Given the description of an element on the screen output the (x, y) to click on. 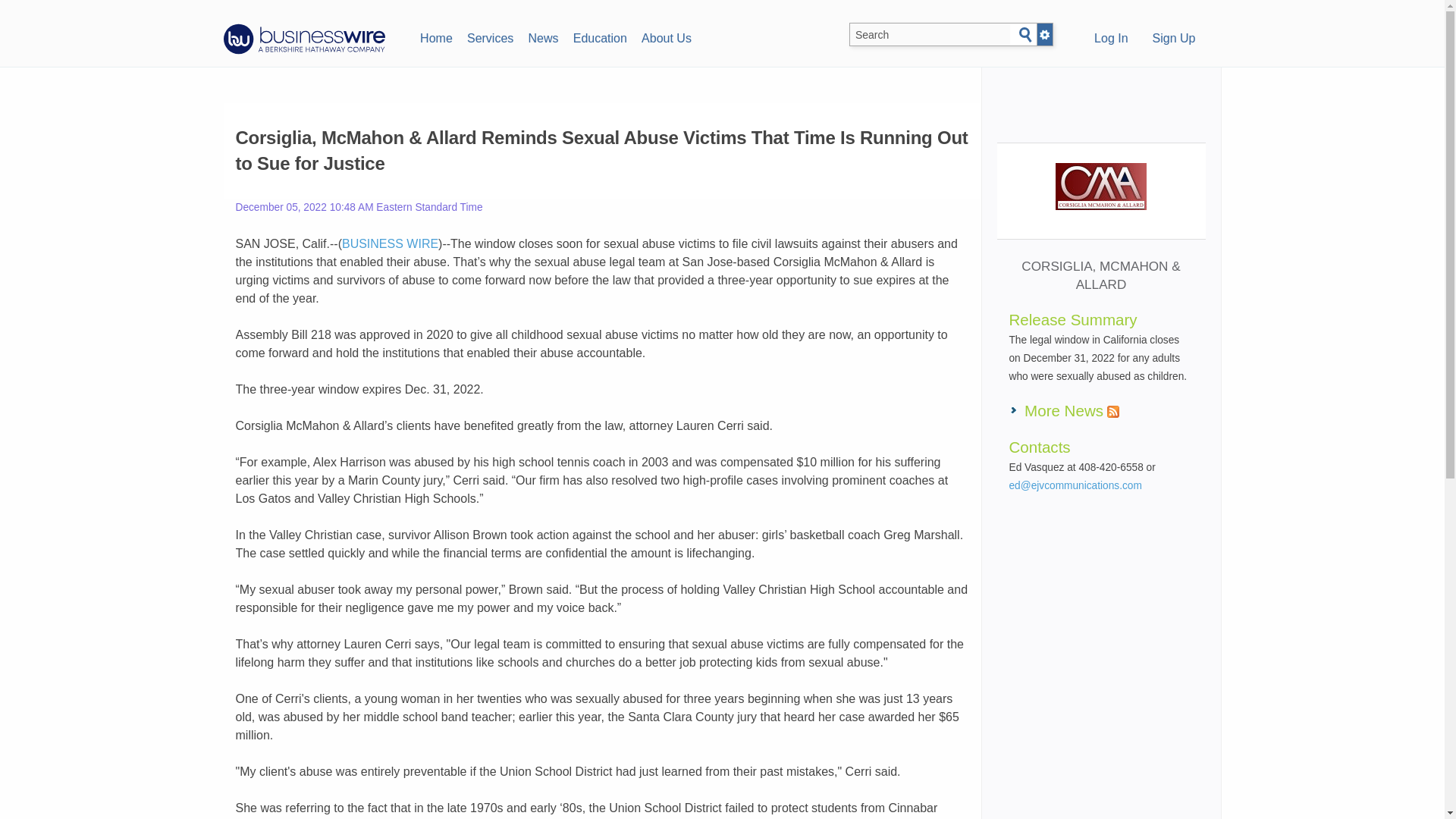
Education (599, 36)
About Us (665, 36)
Log In (1110, 39)
Home (436, 36)
Search BusinessWire.com (930, 34)
Sign Up (1174, 39)
News (543, 36)
Services (490, 36)
Search (1025, 34)
BUSINESS WIRE (390, 243)
